Given the description of an element on the screen output the (x, y) to click on. 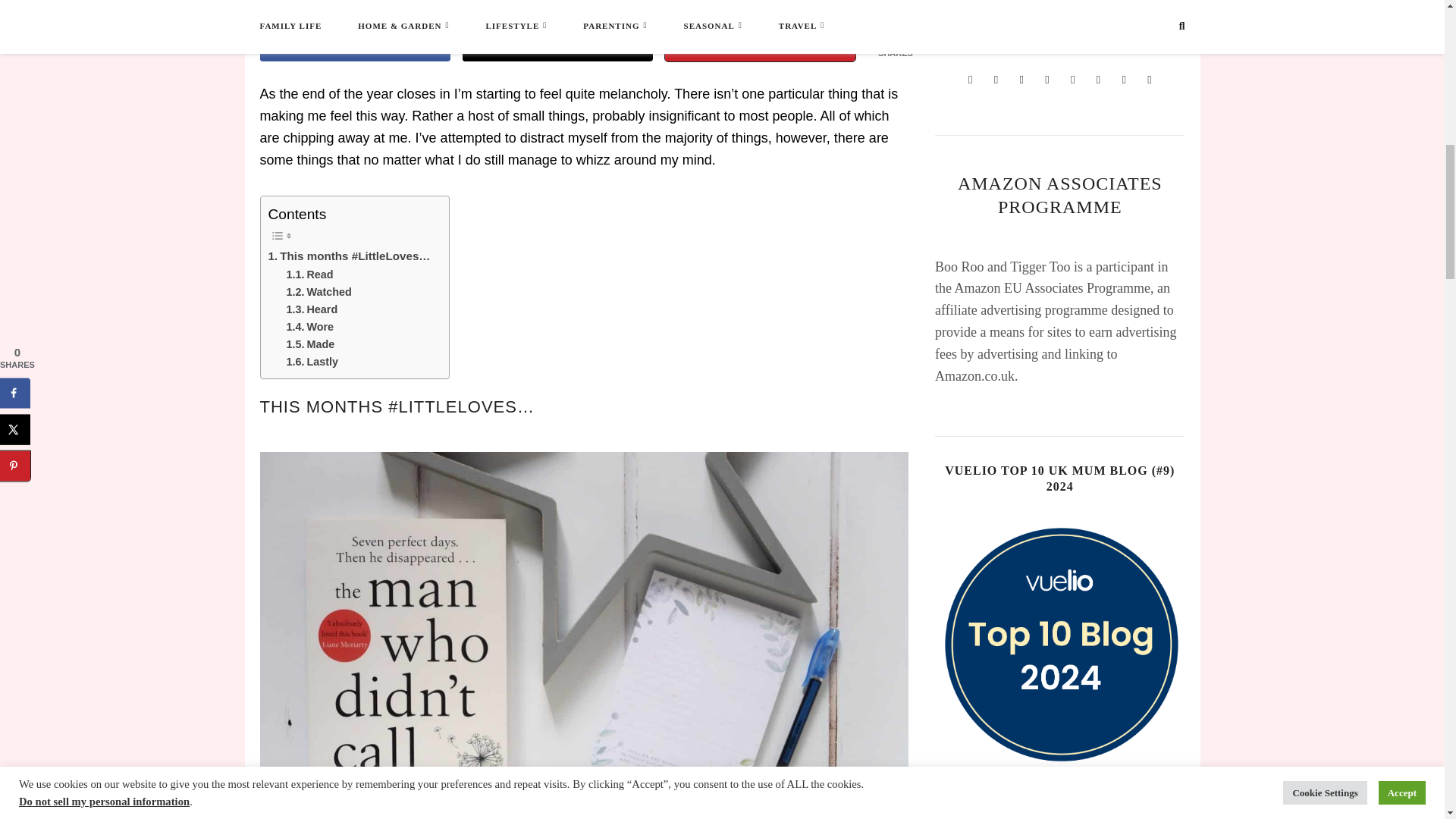
Share on X (557, 46)
Share on Facebook (354, 46)
Made (310, 343)
Save to Pinterest (760, 46)
Heard (311, 309)
Wore (310, 326)
Lastly (311, 361)
Read (309, 274)
